Given the description of an element on the screen output the (x, y) to click on. 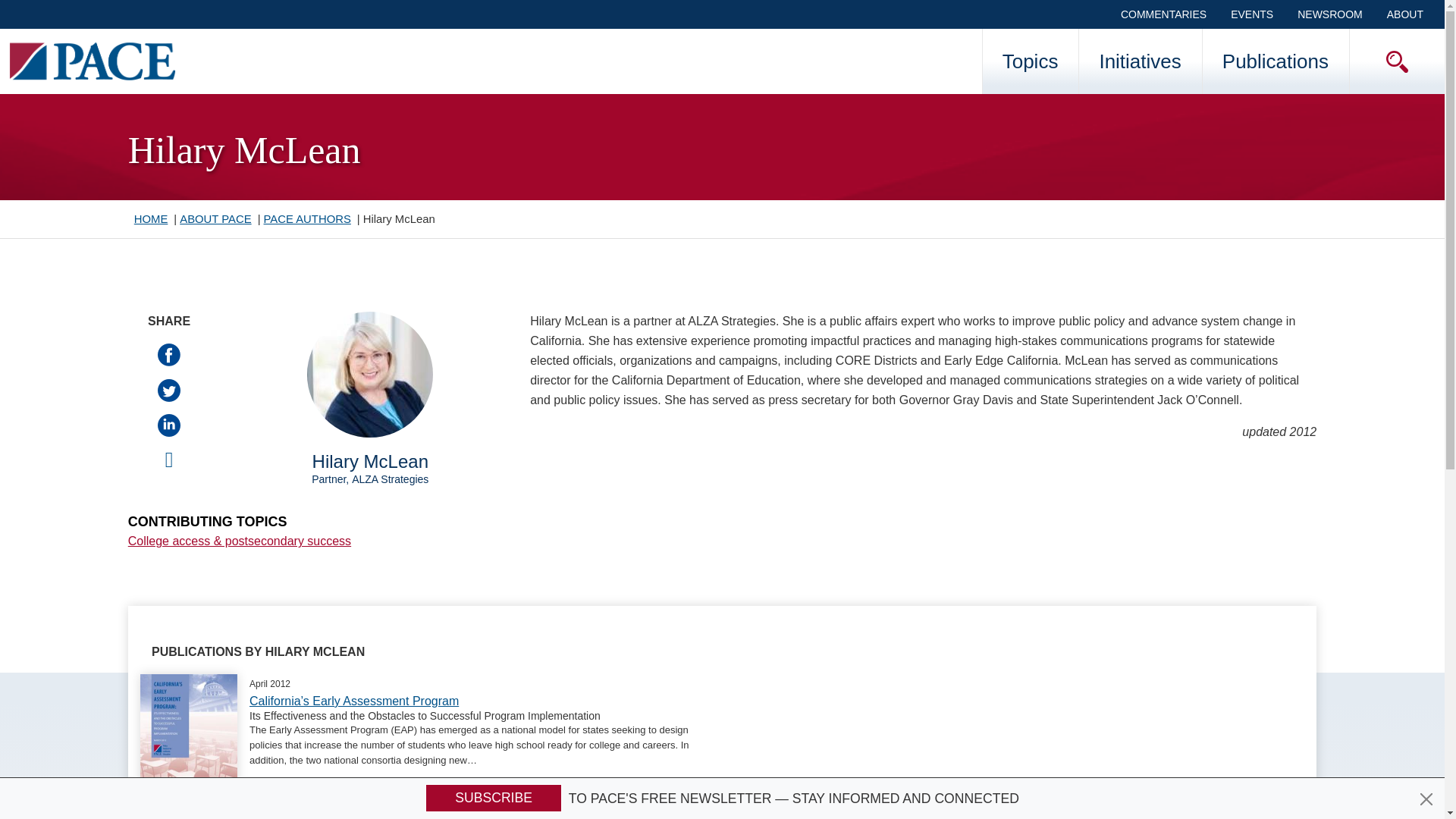
Topics (1029, 61)
Share with Linked.in (168, 423)
Topics (1029, 61)
Publications (1275, 61)
Initiatives (1139, 61)
Search (1363, 188)
COMMENTARIES (1163, 14)
NEWSROOM (1329, 14)
EVENTS (1251, 14)
ABOUT (1404, 14)
SUBSCRIBE (493, 797)
Home (92, 61)
Subscribe! (493, 797)
